Given the description of an element on the screen output the (x, y) to click on. 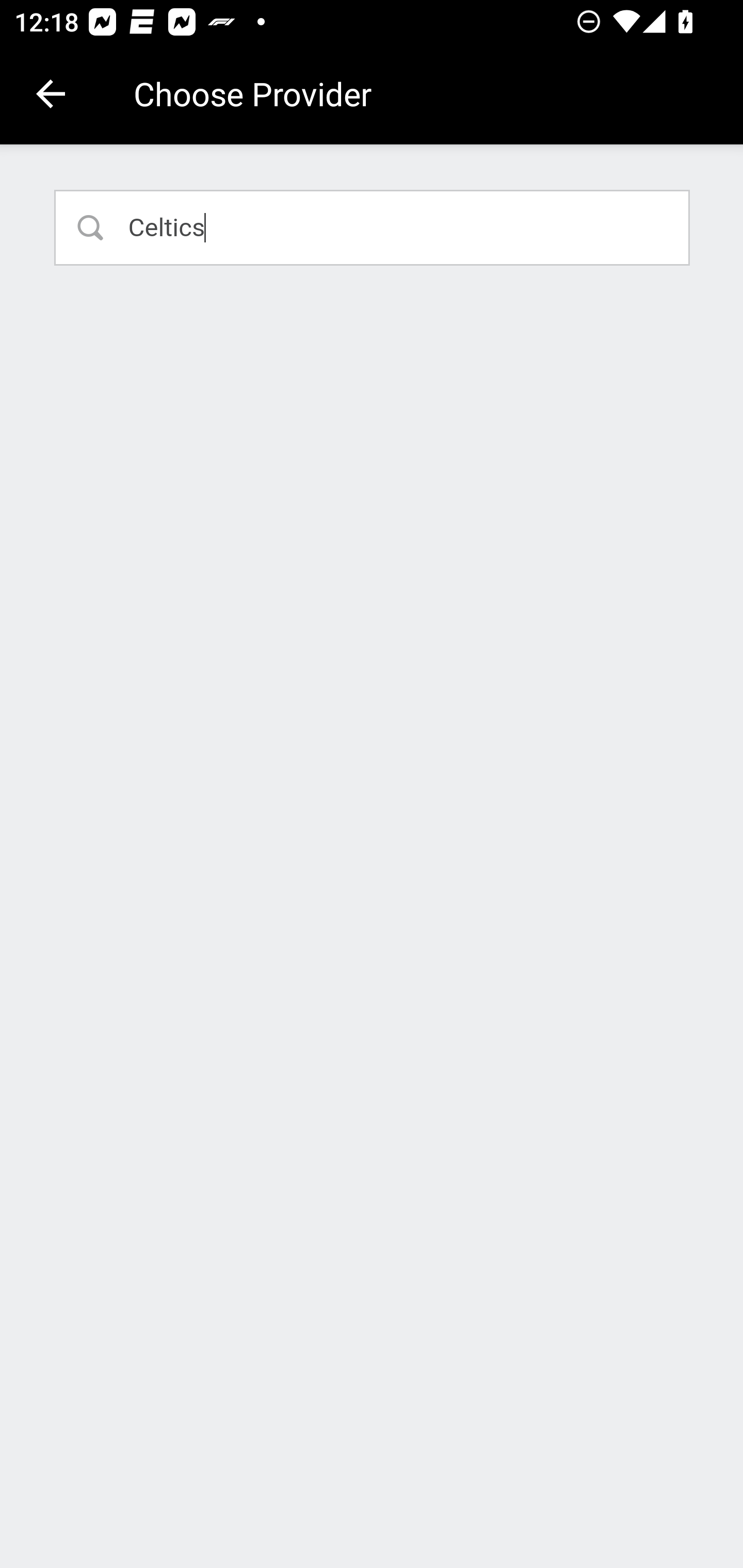
Navigate up (50, 93)
Celtics (372, 227)
